Given the description of an element on the screen output the (x, y) to click on. 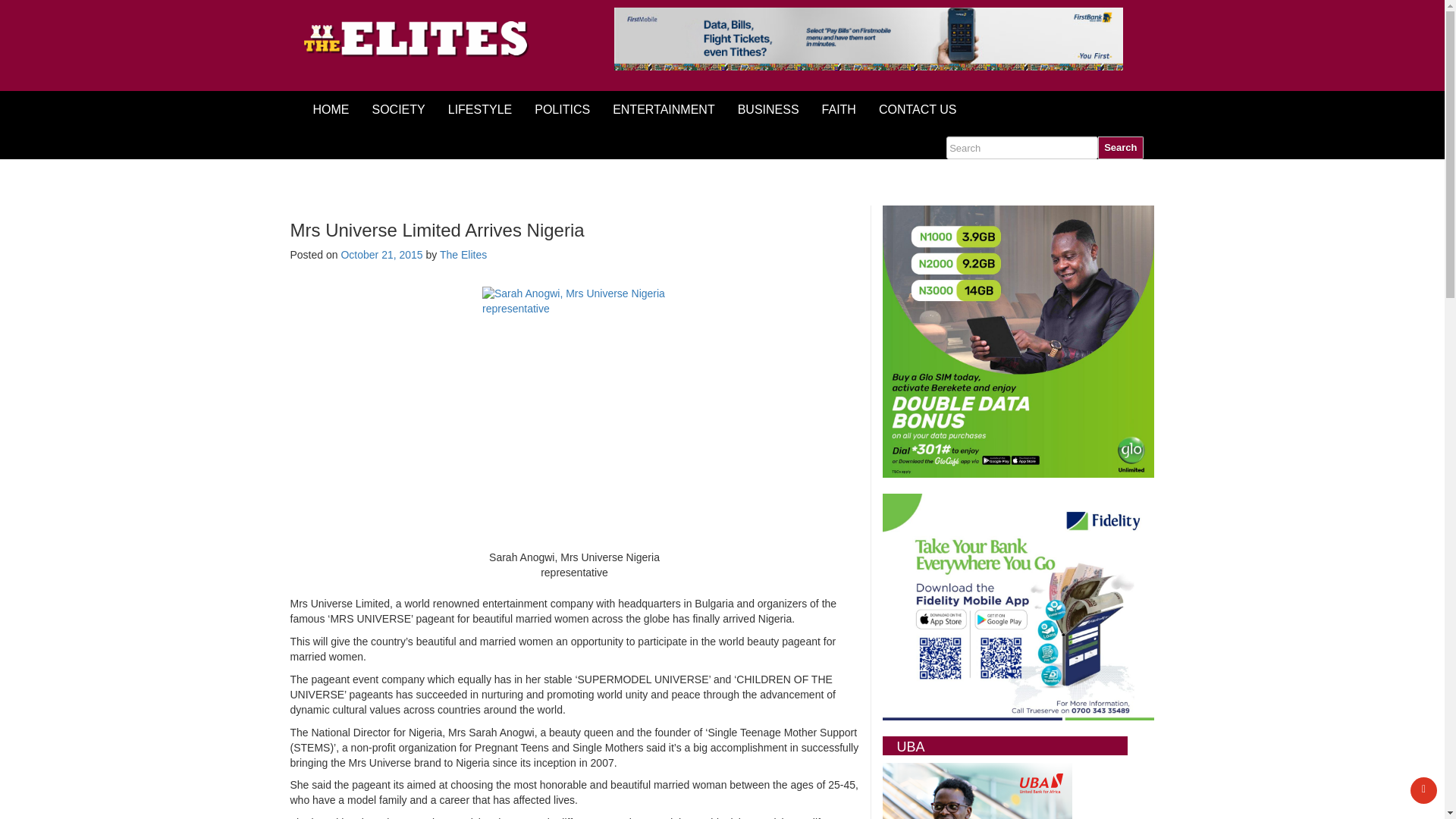
The Elites (462, 254)
LIFESTYLE (479, 109)
SOCIETY (398, 109)
BUSINESS (768, 109)
FAITH (838, 109)
CONTACT US (917, 109)
Search (1119, 147)
POLITICS (561, 109)
ENTERTAINMENT (663, 109)
October 21, 2015 (381, 254)
HOME (331, 109)
